Given the description of an element on the screen output the (x, y) to click on. 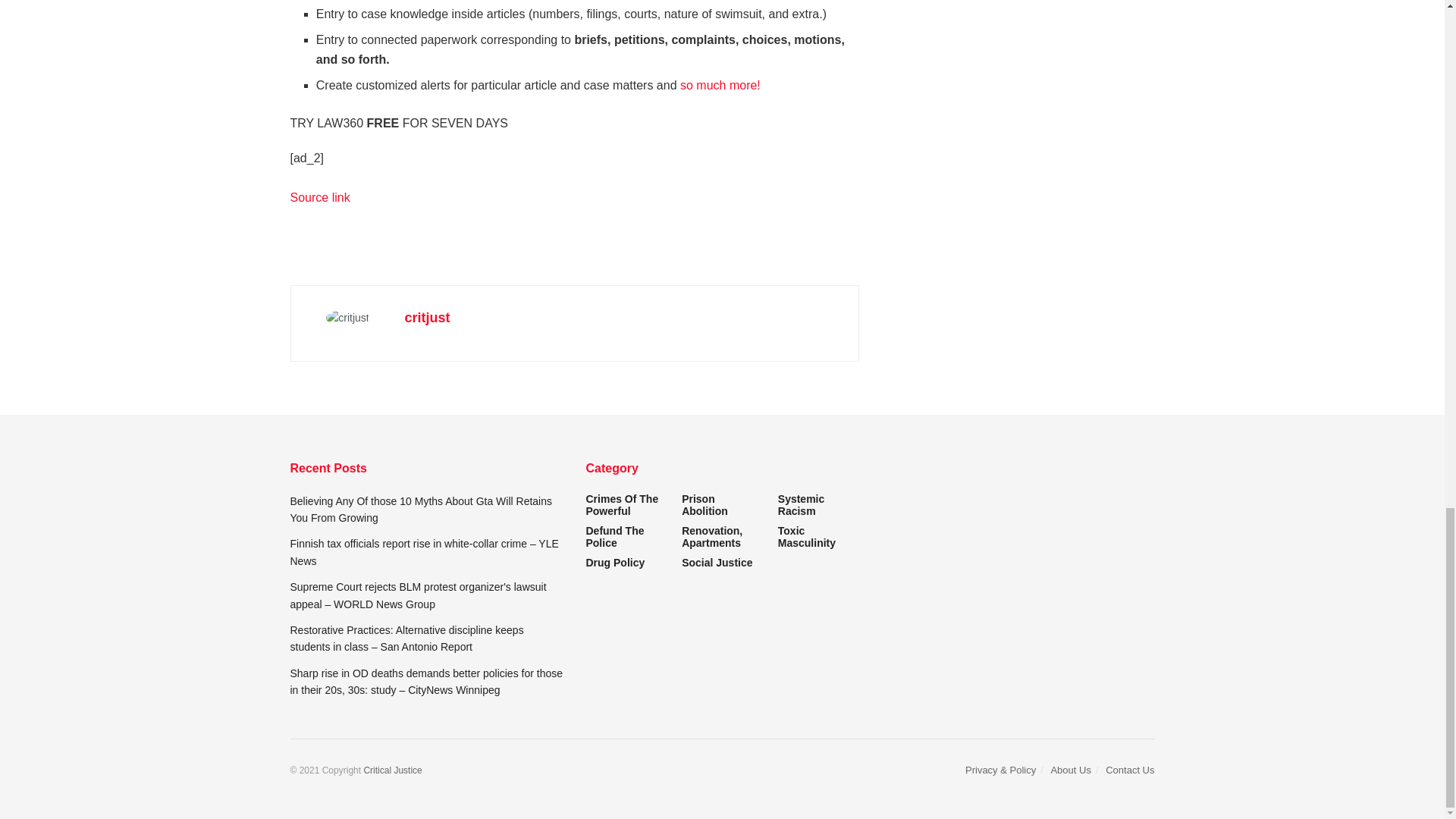
Source link (319, 196)
so much more! (719, 84)
critjust (426, 317)
About Law360 (719, 84)
